Given the description of an element on the screen output the (x, y) to click on. 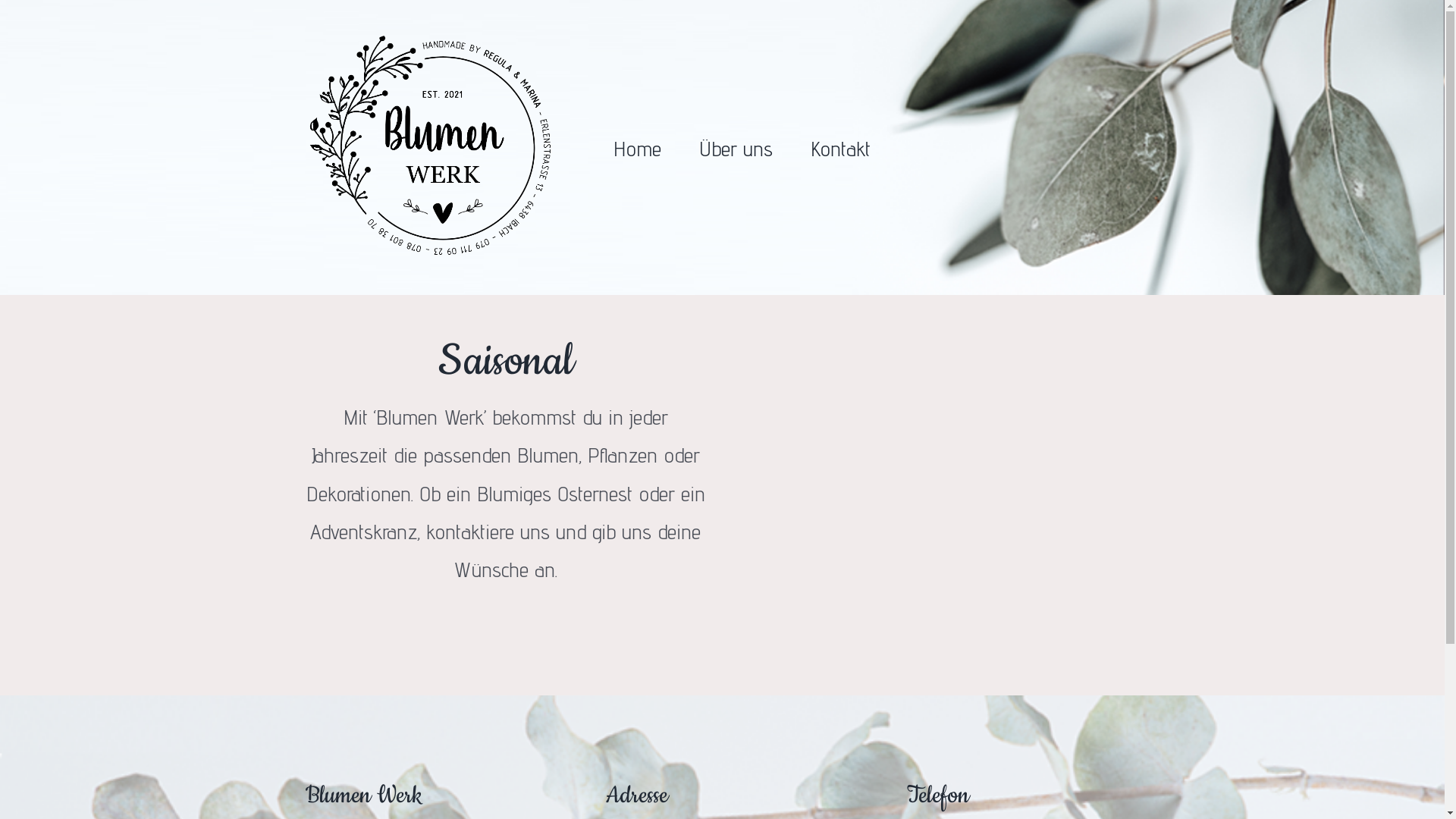
Home Element type: text (637, 147)
Kontakt Element type: text (840, 147)
